Given the description of an element on the screen output the (x, y) to click on. 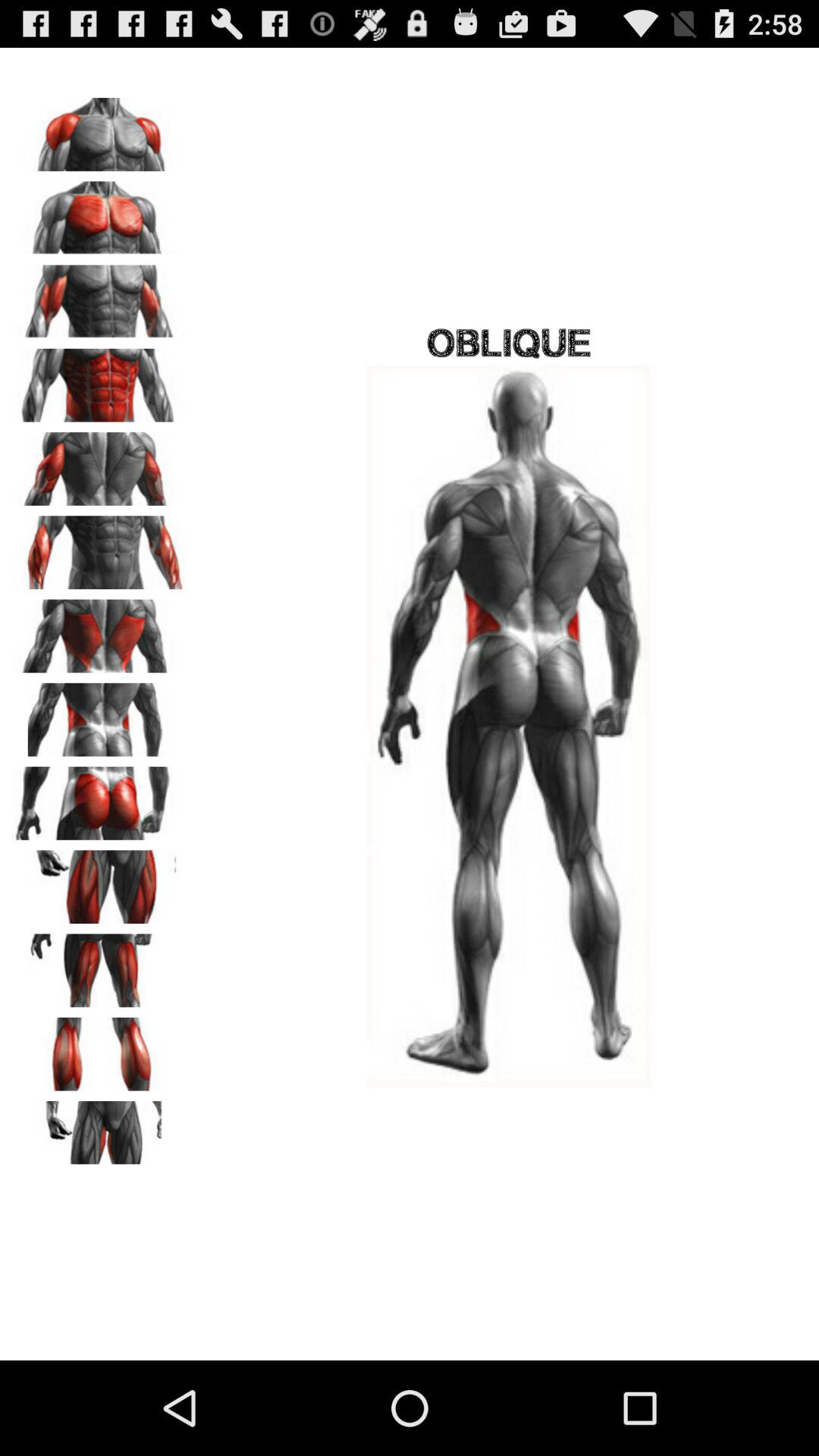
view butt muscle working out advice (99, 798)
